Given the description of an element on the screen output the (x, y) to click on. 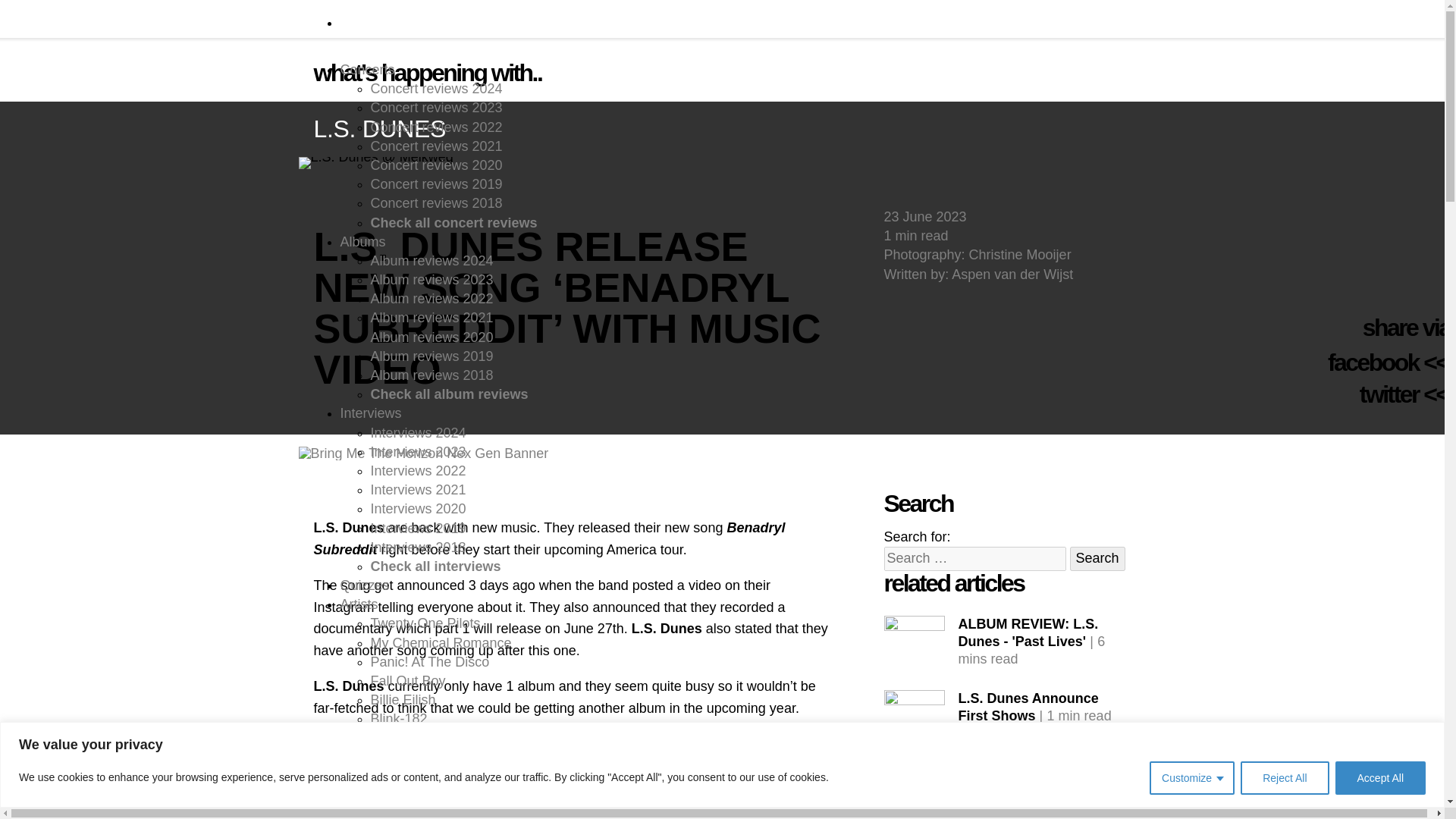
Album reviews 2018 (431, 375)
Concert reviews 2024 (435, 88)
L.S. Dunes - Strife Mag (913, 720)
Concerts (366, 69)
Interviews 2022 (417, 470)
Customize (1192, 777)
Concert reviews 2021 (435, 145)
Tweet (1388, 393)
Album reviews 2020 (431, 337)
Search (1097, 558)
